Given the description of an element on the screen output the (x, y) to click on. 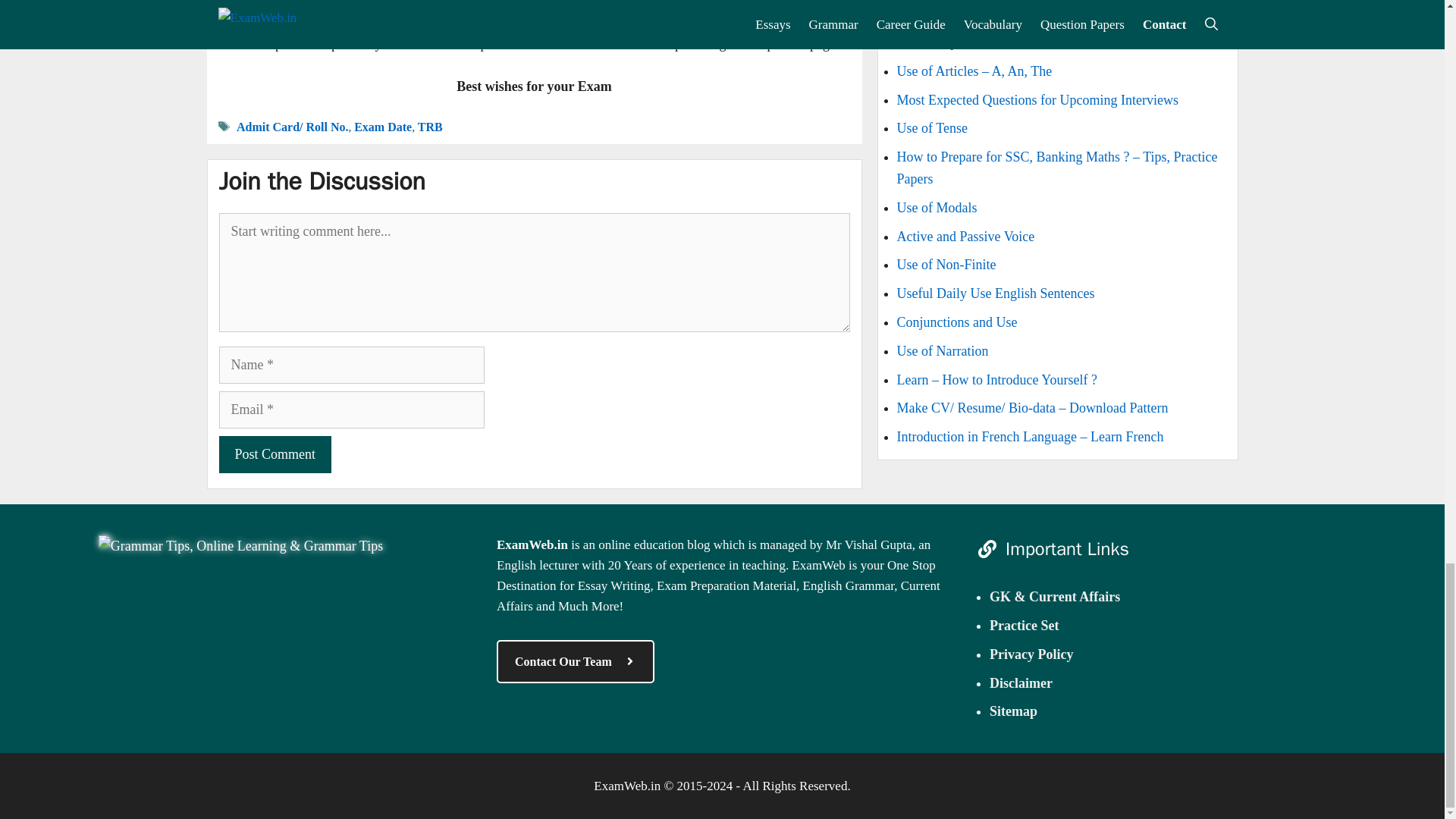
examweb.in (240, 546)
Exam Date (382, 126)
Post Comment (274, 454)
Post Comment (274, 454)
TRB (429, 126)
